Given the description of an element on the screen output the (x, y) to click on. 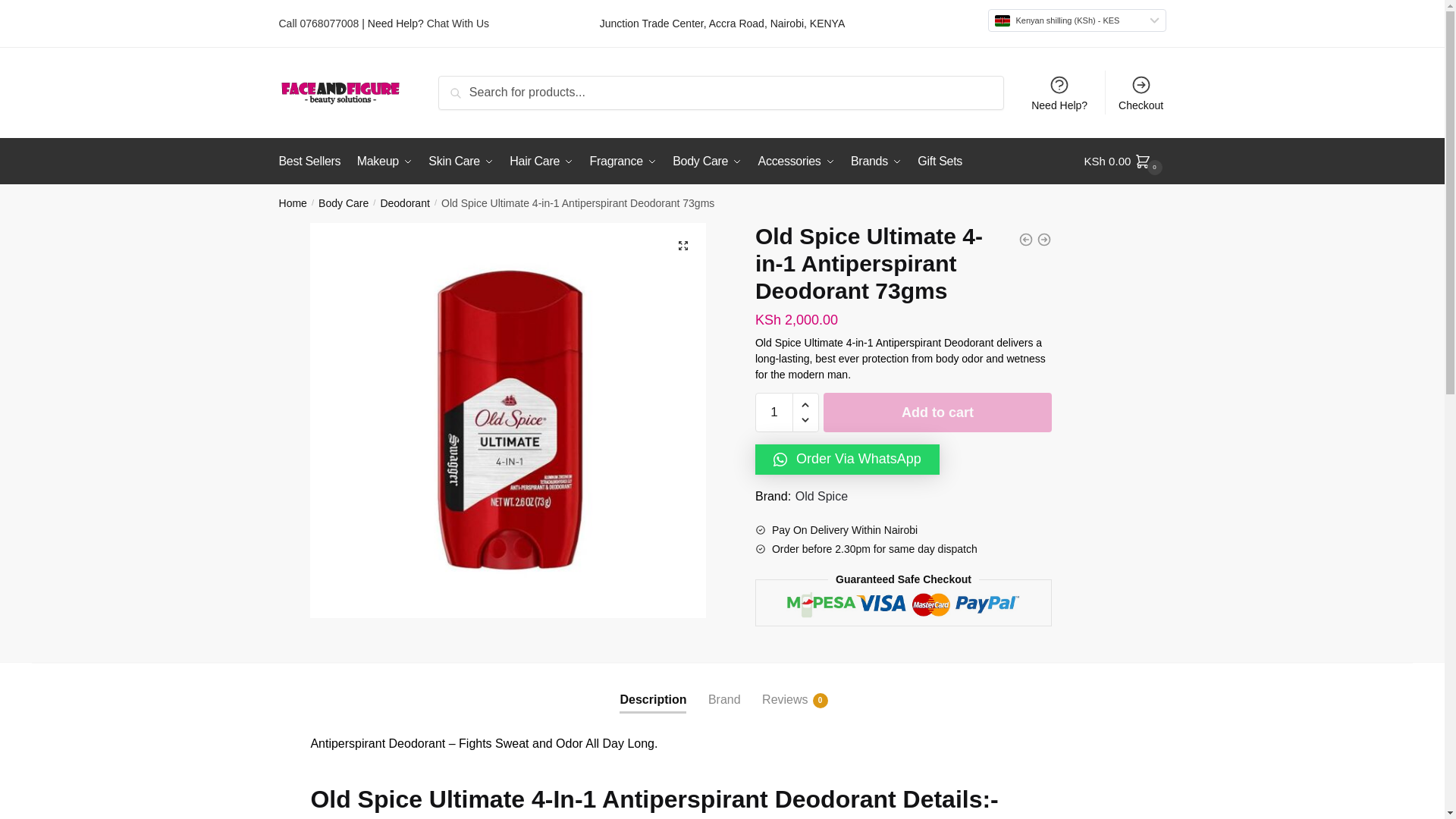
Need Help? (1059, 92)
Call 0768077008 (319, 23)
Best Sellers (313, 161)
Skin Care (460, 161)
Search (475, 93)
View brand (820, 496)
View your shopping cart (1125, 161)
Checkout (1141, 92)
1 (774, 412)
Makeup (384, 161)
Chat With Us (457, 23)
